Given the description of an element on the screen output the (x, y) to click on. 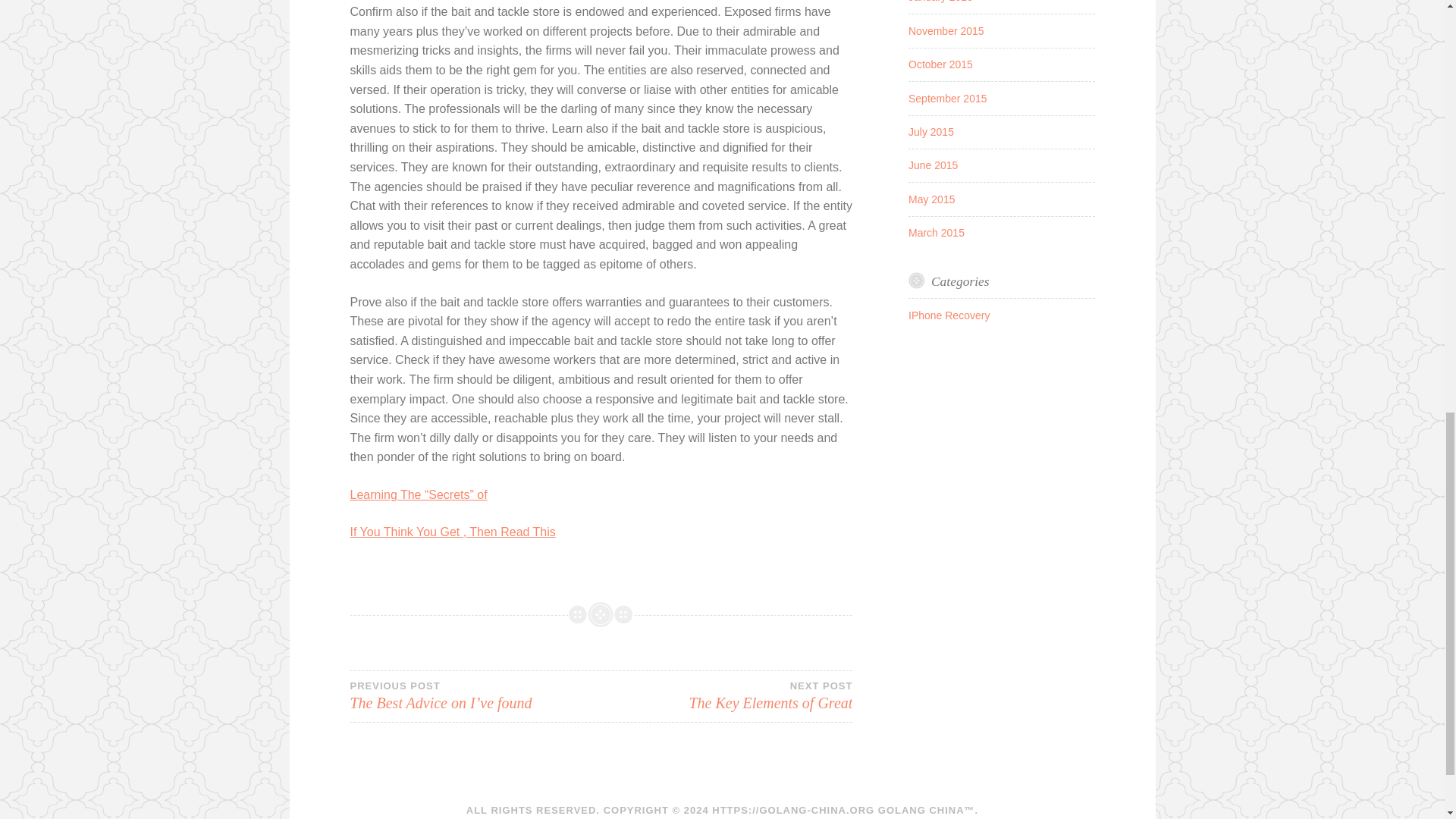
September 2015 (726, 695)
November 2015 (947, 98)
October 2015 (946, 30)
March 2015 (940, 64)
If You Think You Get , Then Read This (935, 232)
July 2015 (453, 531)
January 2016 (930, 132)
June 2015 (940, 1)
May 2015 (933, 164)
IPhone Recovery (931, 199)
